Given the description of an element on the screen output the (x, y) to click on. 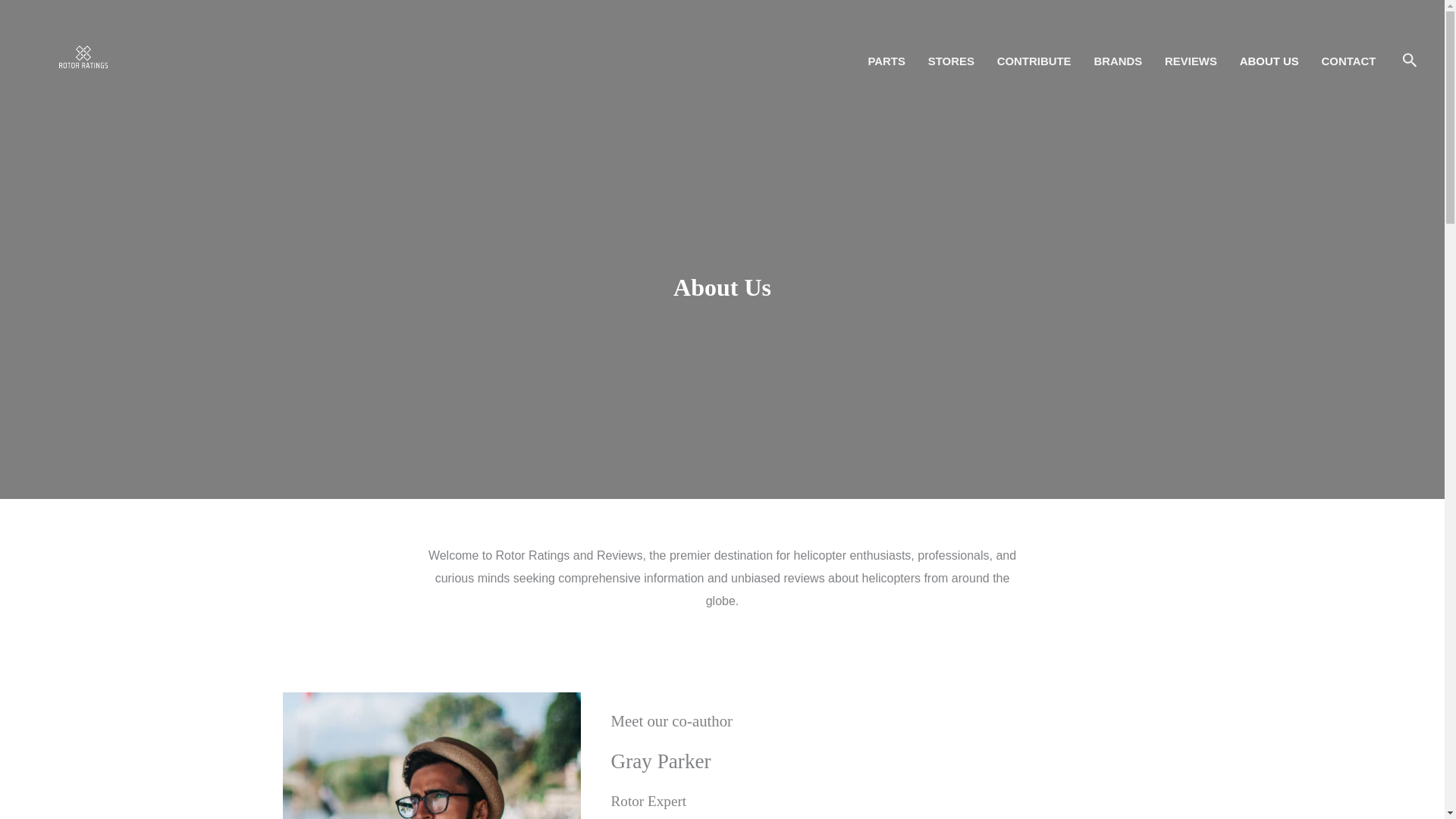
STORES (951, 61)
BRANDS (1117, 61)
REVIEWS (1190, 61)
ABOUT US (1269, 61)
PARTS (887, 61)
CONTRIBUTE (1034, 61)
CONTACT (1348, 61)
